Given the description of an element on the screen output the (x, y) to click on. 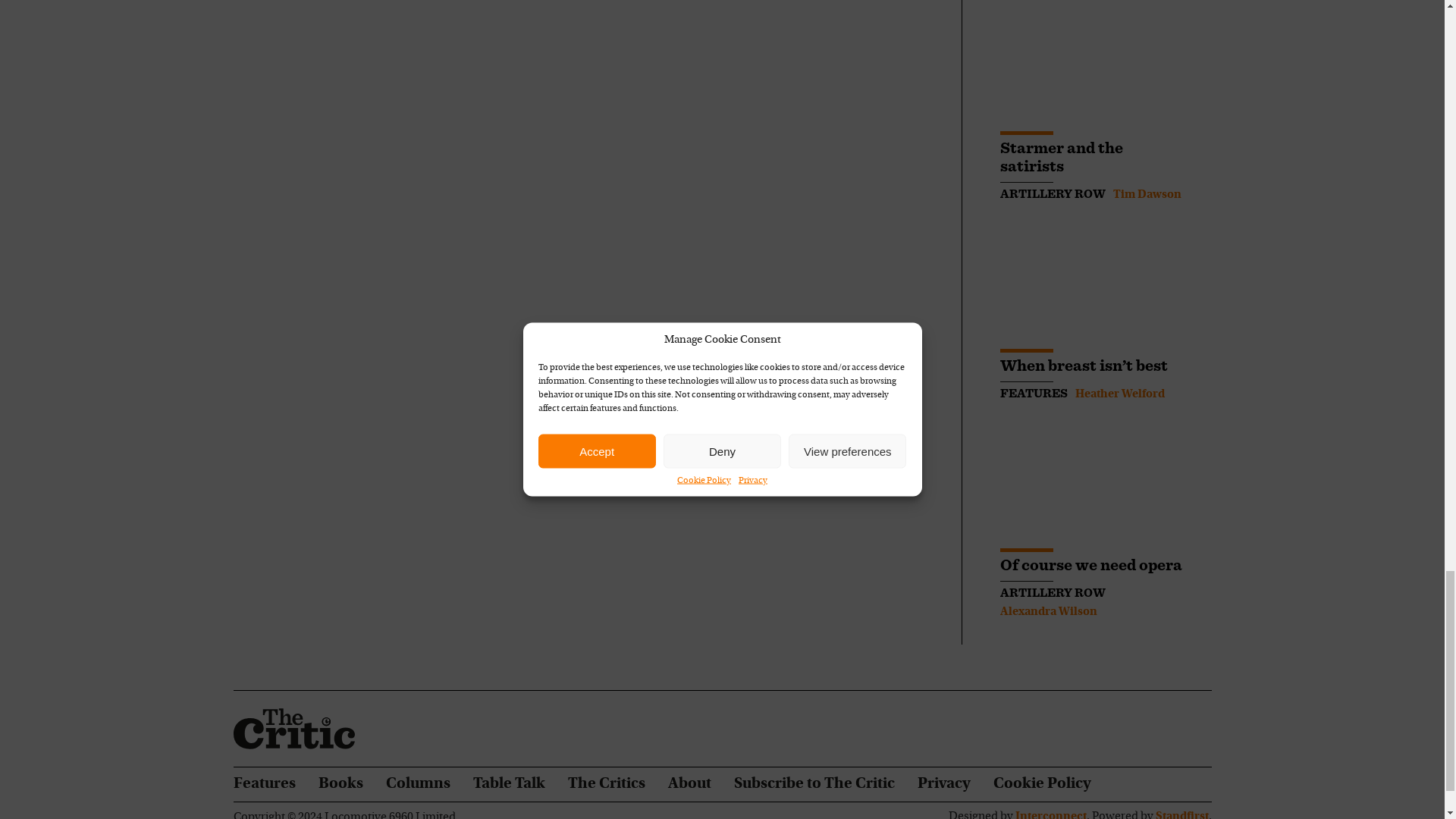
Posts by Tim Dawson (1146, 194)
Posts by Alexandra Wilson (1047, 612)
Posts by Heather Welford (1119, 394)
